Given the description of an element on the screen output the (x, y) to click on. 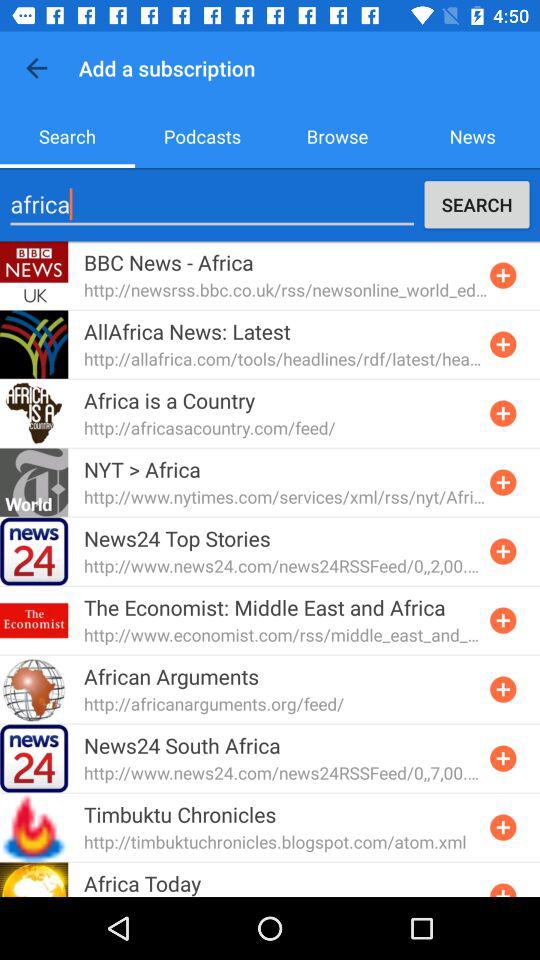
because back devicer (503, 275)
